Given the description of an element on the screen output the (x, y) to click on. 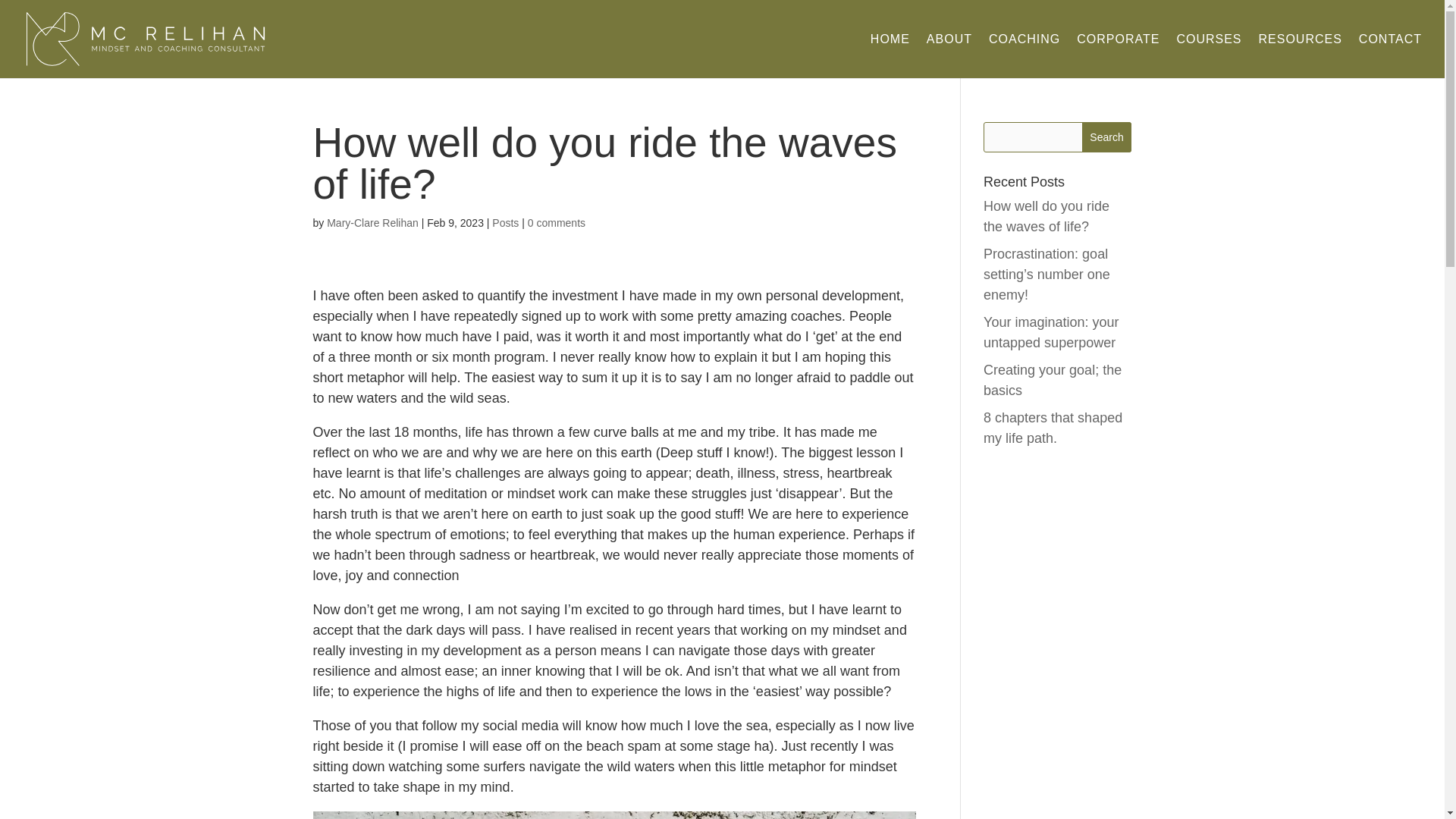
Creating your goal; the basics (1052, 380)
Your imagination: your untapped superpower (1051, 332)
HOME (890, 41)
ABOUT (949, 41)
Posts (505, 223)
CORPORATE (1117, 41)
RESOURCES (1300, 41)
Mary-Clare Relihan (372, 223)
0 comments (556, 223)
Search (1106, 137)
How well do you ride the waves of life? (1046, 216)
CONTACT (1390, 41)
Posts by Mary-Clare Relihan (372, 223)
COURSES (1208, 41)
COACHING (1023, 41)
